Given the description of an element on the screen output the (x, y) to click on. 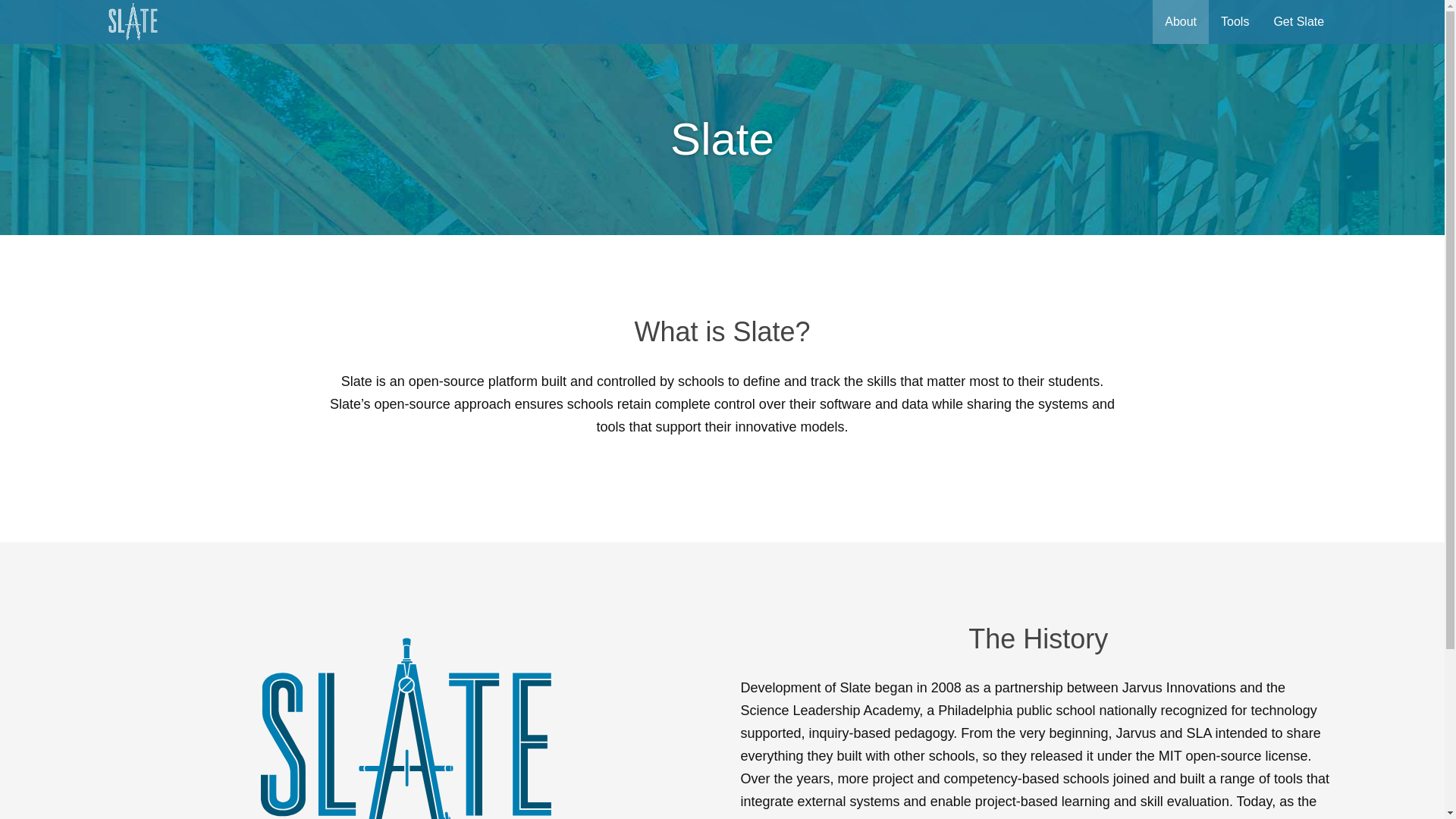
About (1180, 22)
Get Slate (1298, 22)
Tools (1234, 22)
